Given the description of an element on the screen output the (x, y) to click on. 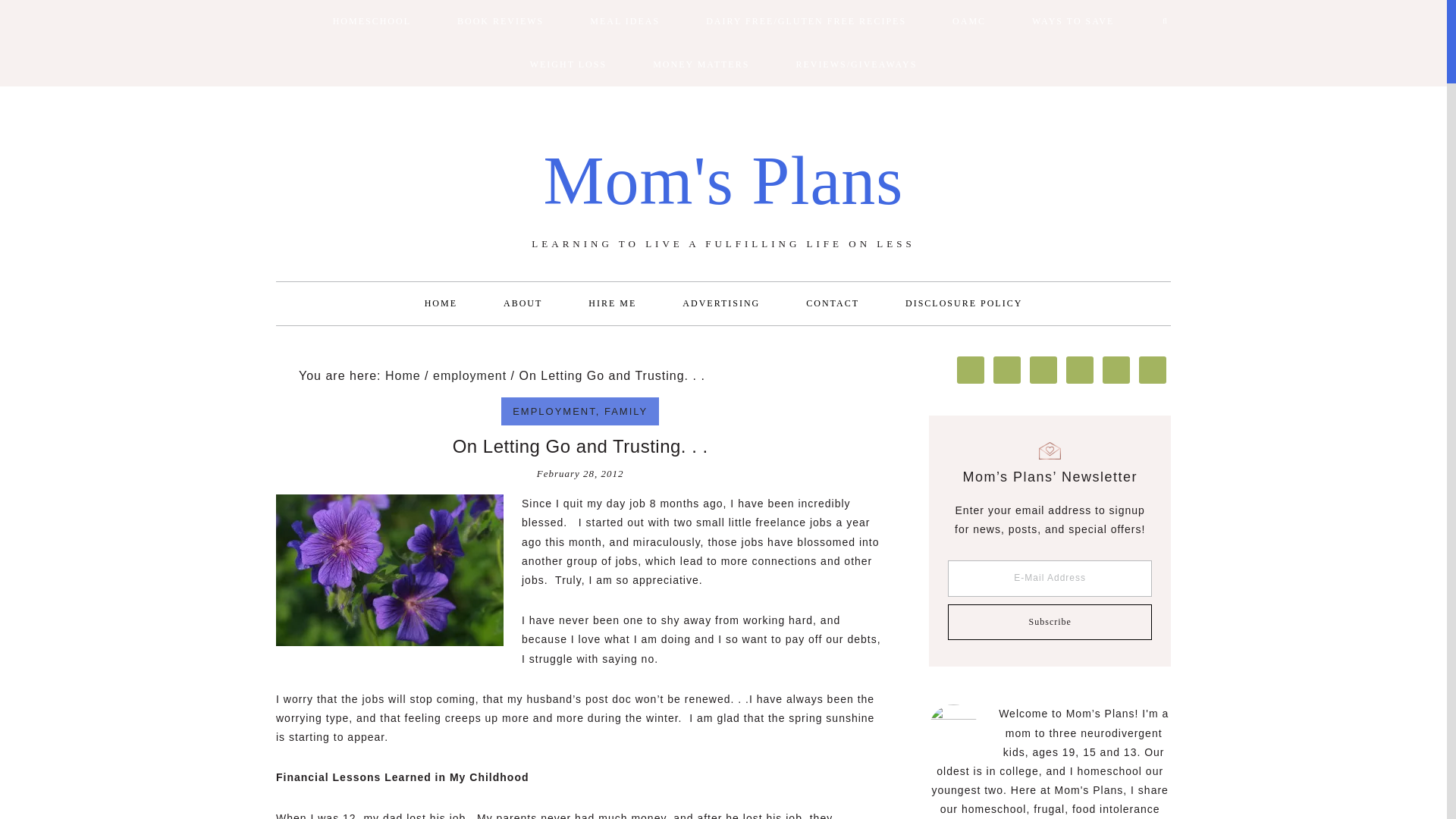
MEAL IDEAS (625, 21)
CONTACT (832, 303)
MONEY MATTERS (700, 64)
ADVERTISING (720, 303)
WEIGHT LOSS (567, 64)
WAYS TO SAVE (1072, 21)
HOMESCHOOL (371, 21)
OAMC (969, 21)
HOME (441, 303)
HIRE ME (612, 303)
ABOUT (522, 303)
Mom's Plans (723, 180)
Flowers001 (389, 570)
Subscribe (1049, 622)
